Given the description of an element on the screen output the (x, y) to click on. 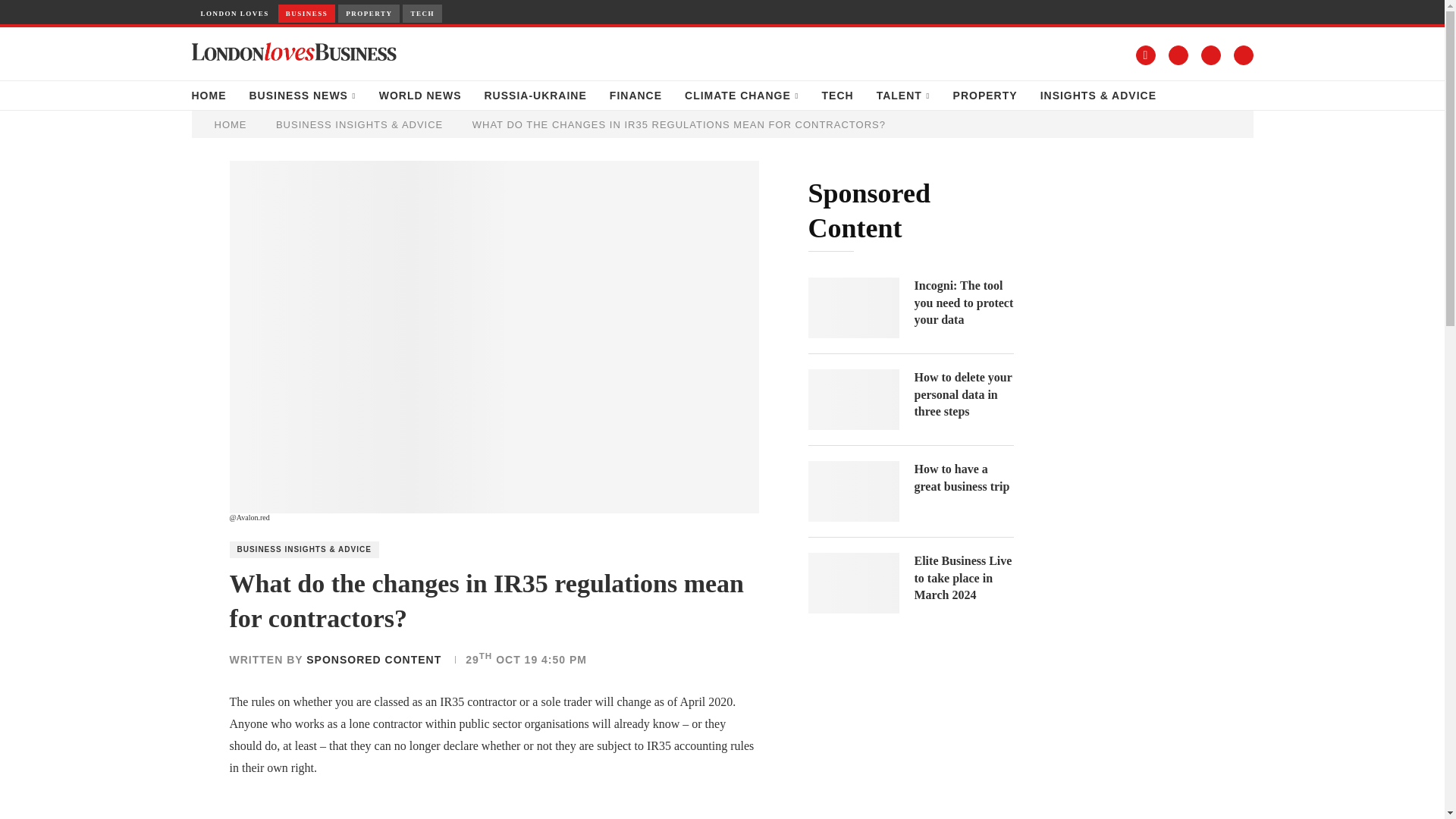
Incogni: The tool you need to protect your data (853, 307)
How to delete your personal data in three steps (963, 394)
How to have a great business trip (963, 478)
How to delete your personal data in three steps (853, 399)
How to have a great business trip (853, 491)
Incogni: The tool you need to protect your data (963, 302)
